Given the description of an element on the screen output the (x, y) to click on. 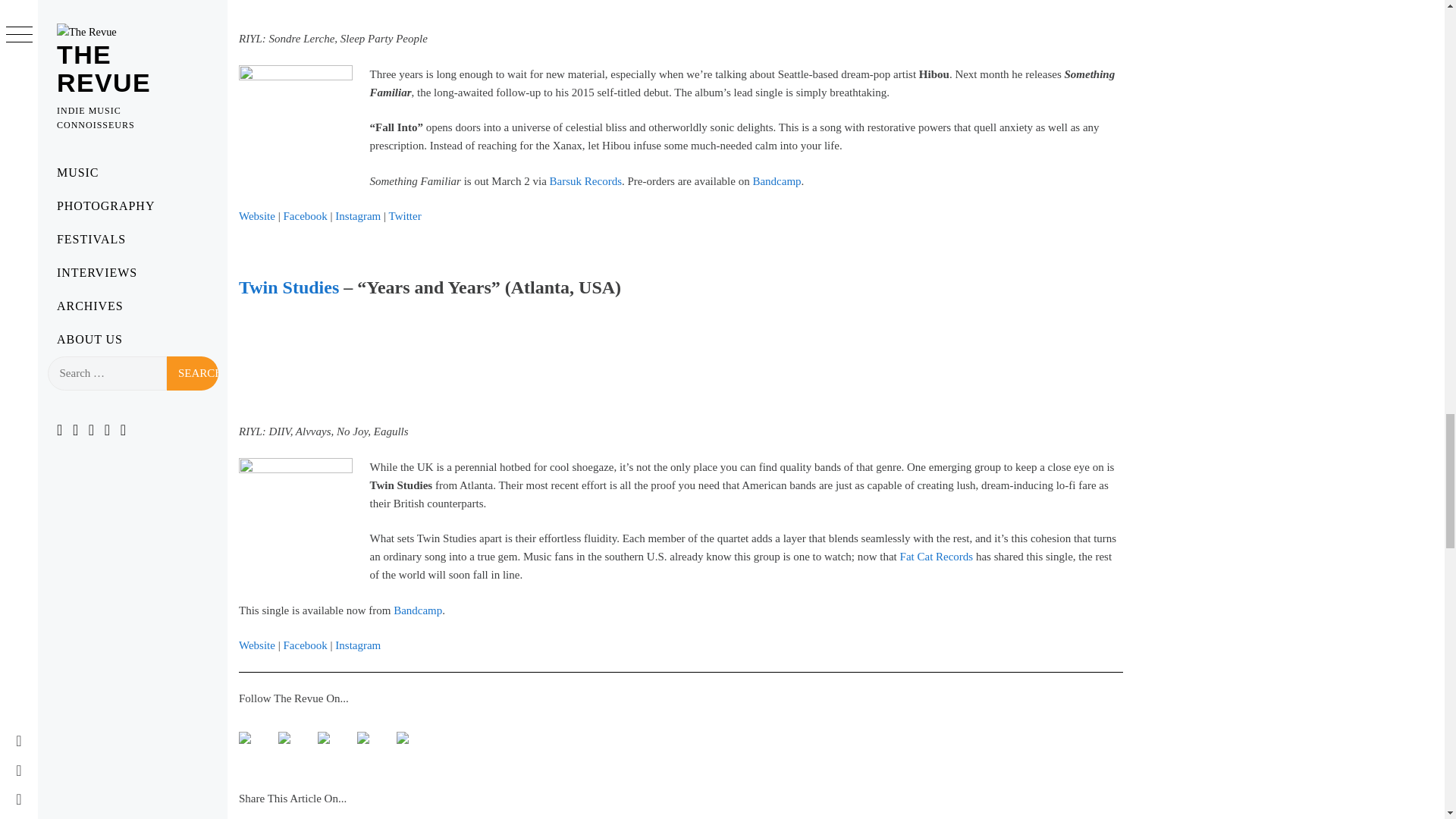
Follow The Revue on Facebook (244, 737)
Follow The Revue on YouTube (329, 743)
Follow The Revue on Instagram (402, 737)
Follow The Revue on YouTube (323, 737)
Follow The Revue on Instagram (408, 743)
Follow The Revue on Twitter (290, 743)
Follow The Revue on Facebook (250, 743)
Follow The Revue on Twitter (283, 737)
Follow The Revue on Tumblr (362, 737)
Follow The Revue on Tumblr (368, 743)
